Given the description of an element on the screen output the (x, y) to click on. 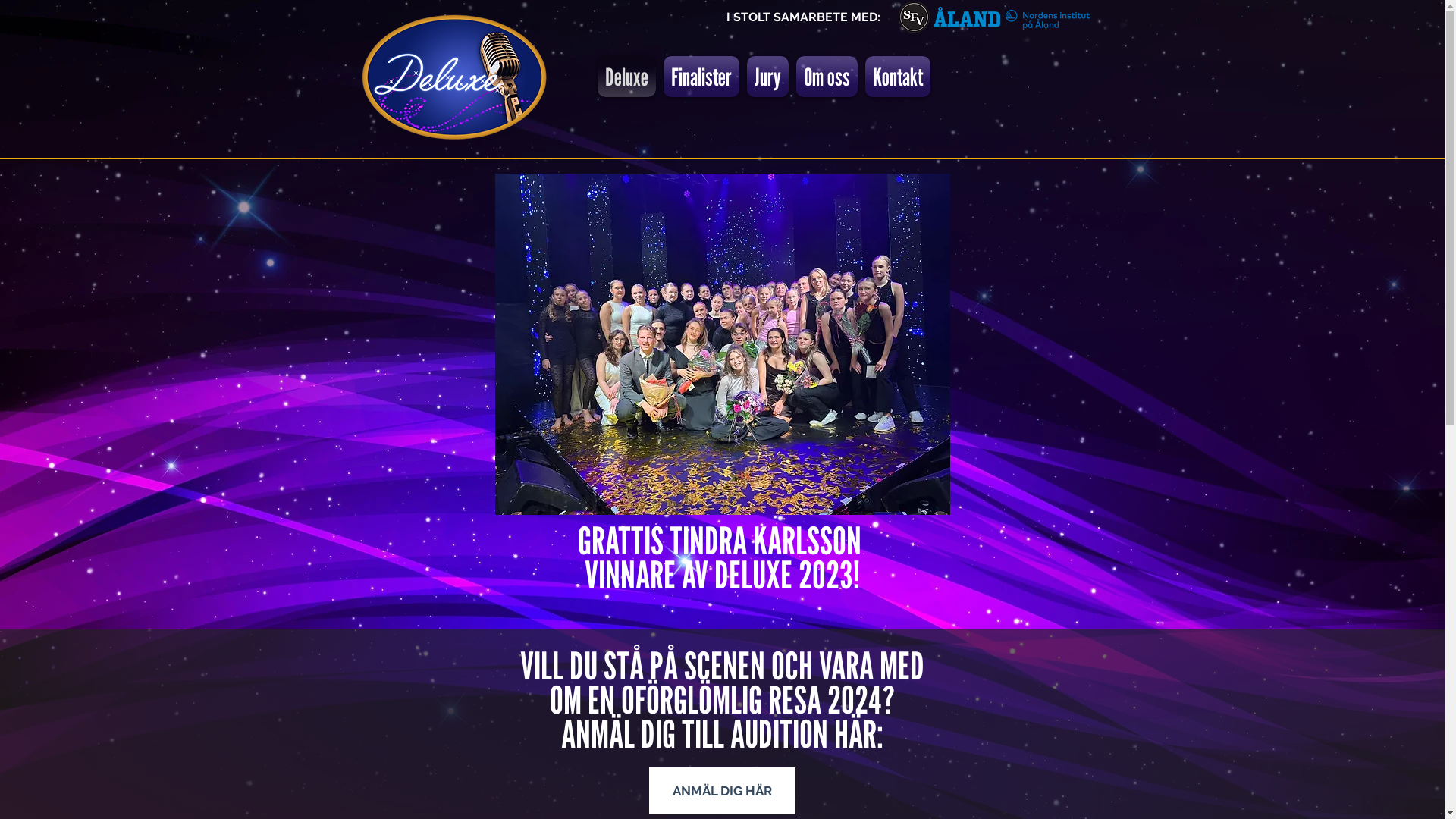
Deluxe Element type: text (626, 76)
Finalister Element type: text (701, 76)
Om oss Element type: text (826, 76)
Kontakt Element type: text (897, 76)
Jury Element type: text (767, 76)
